Given the description of an element on the screen output the (x, y) to click on. 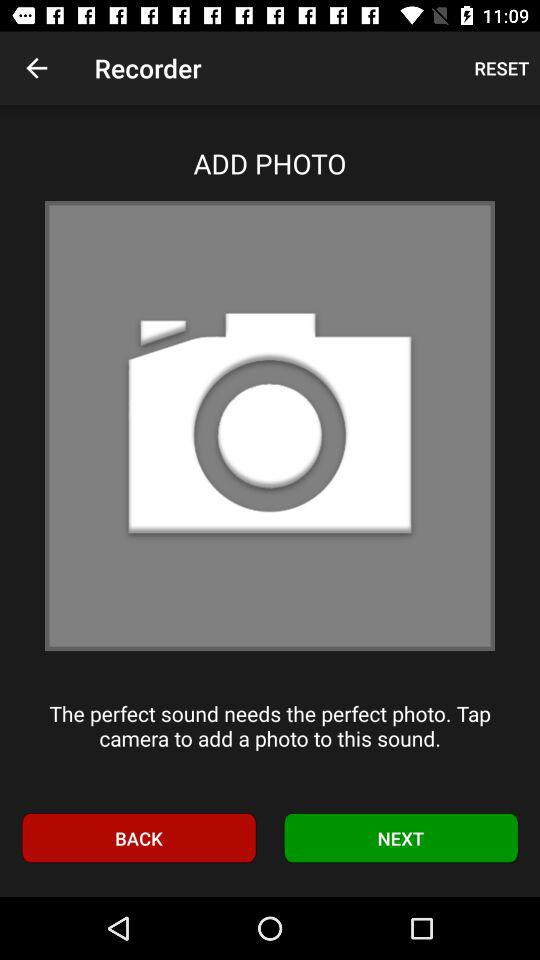
click icon below add photo icon (270, 425)
